Given the description of an element on the screen output the (x, y) to click on. 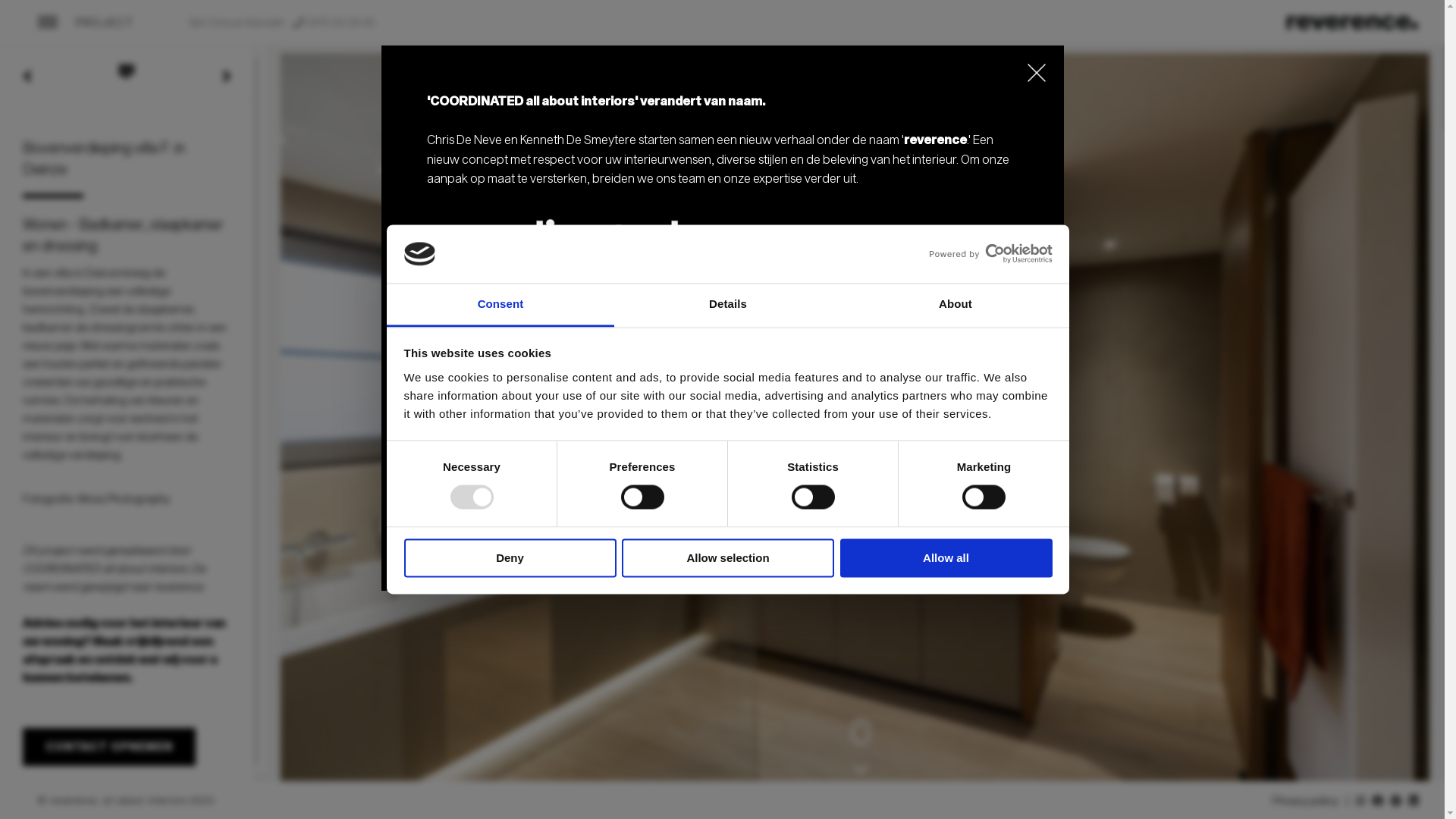
About Element type: text (955, 304)
0475 59 99 45 Element type: text (340, 21)
CONTACT OPNEMEN Element type: text (108, 746)
Allow selection Element type: text (727, 557)
Consent Element type: text (500, 304)
linkedin Element type: hover (1395, 799)
Details Element type: text (727, 304)
facebook Element type: hover (1377, 799)
Deny Element type: text (509, 557)
PROJECT Element type: text (104, 21)
linkedin Element type: hover (1413, 799)
Privacy policy Element type: text (1305, 799)
linkedin Element type: hover (1360, 799)
Allow all Element type: text (946, 557)
